Given the description of an element on the screen output the (x, y) to click on. 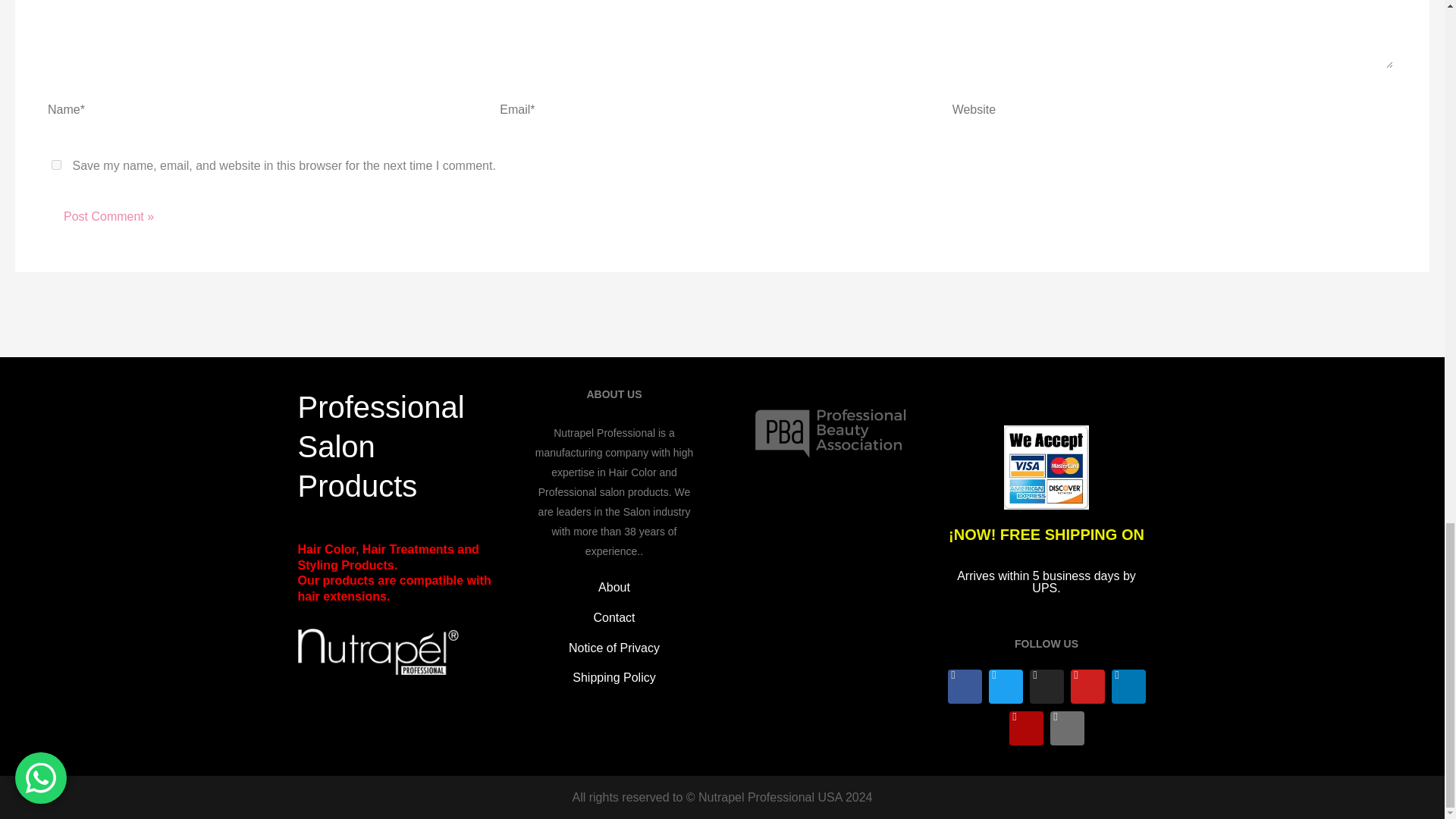
yes (55, 164)
